Given the description of an element on the screen output the (x, y) to click on. 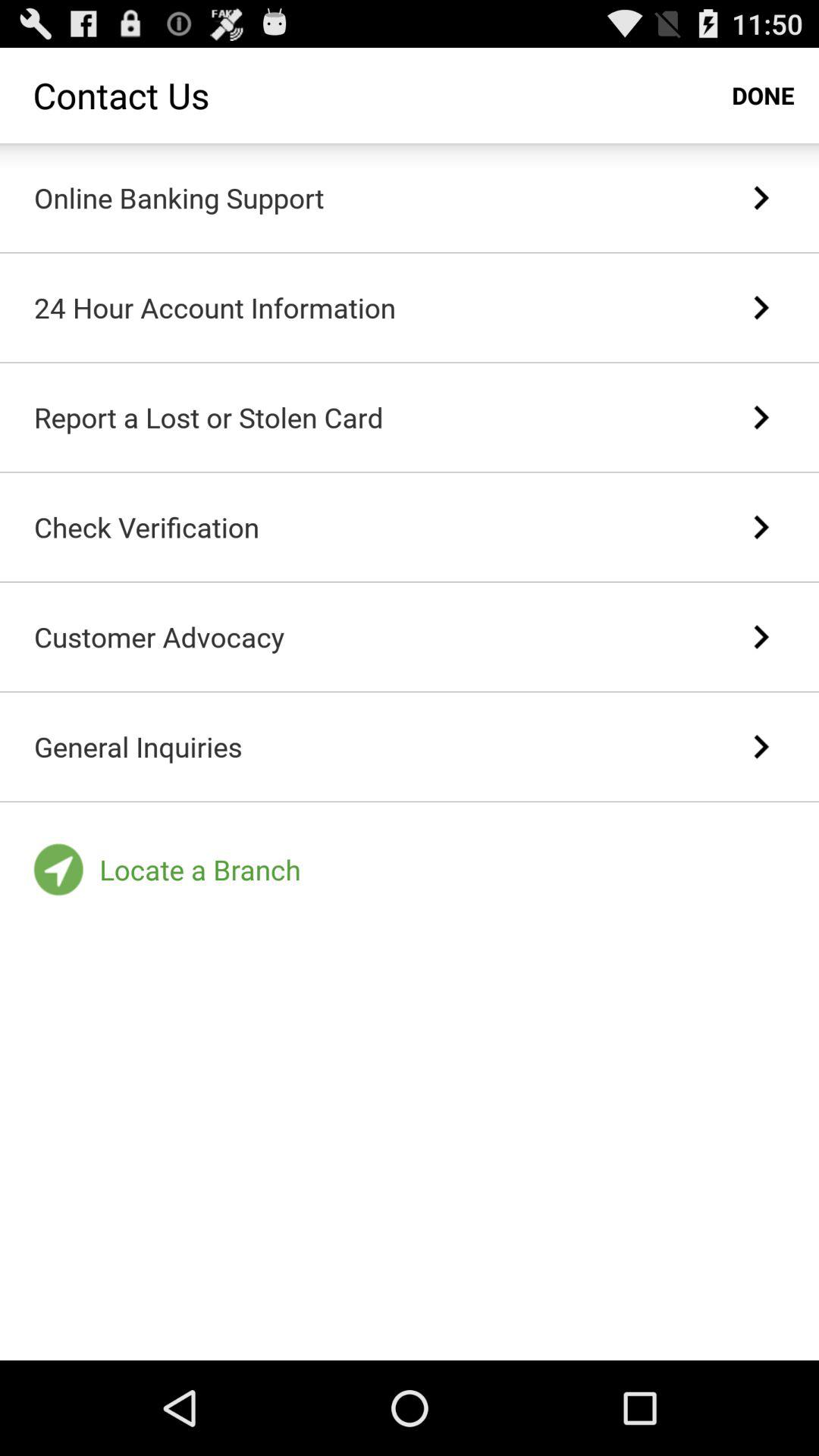
select item below done item (760, 197)
